Given the description of an element on the screen output the (x, y) to click on. 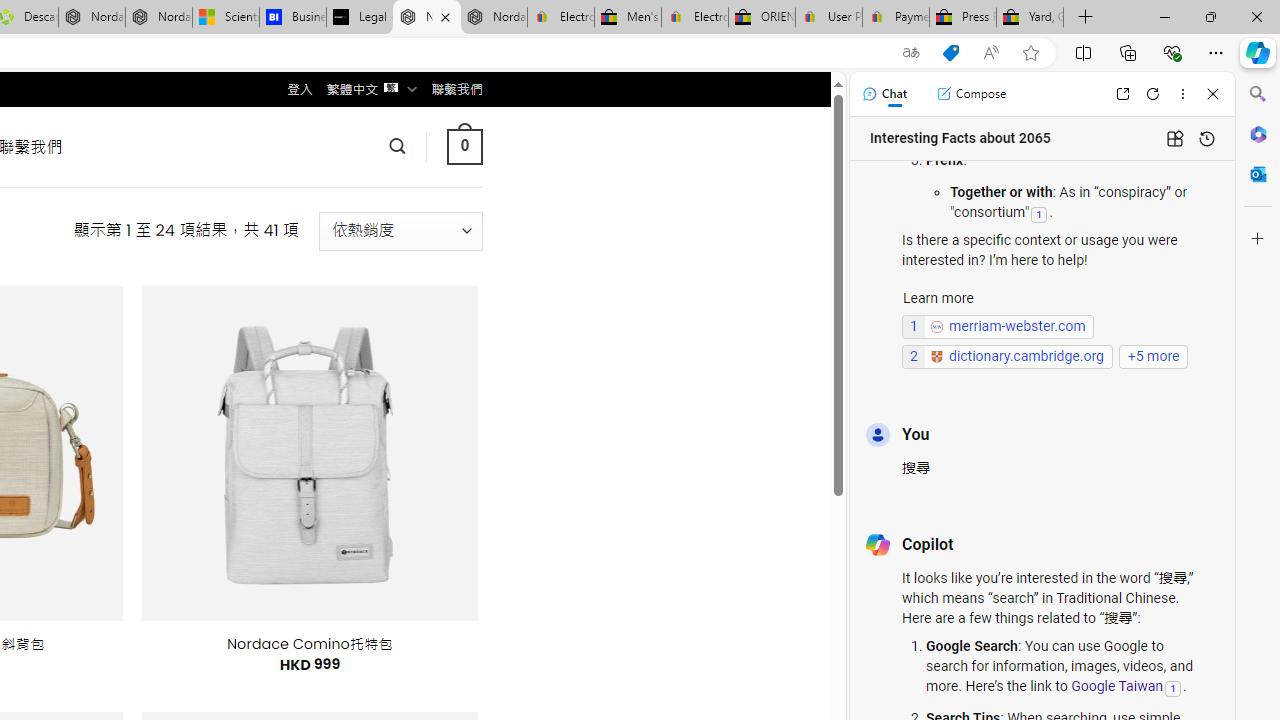
This site has coupons! Shopping in Microsoft Edge (950, 53)
Payments Terms of Use | eBay.com (895, 17)
Chat (884, 93)
Press Room - eBay Inc. (962, 17)
